Given the description of an element on the screen output the (x, y) to click on. 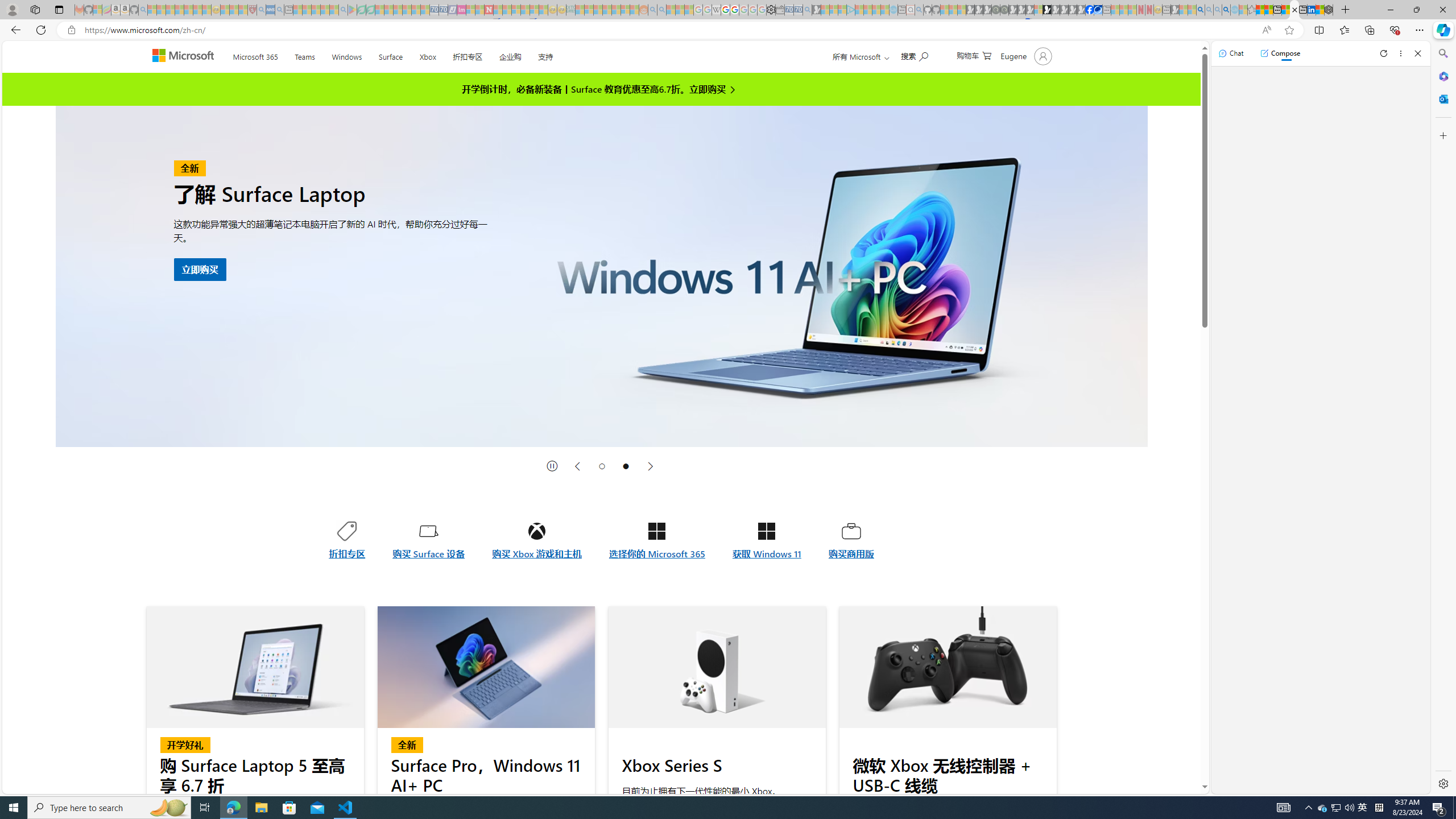
DITOGAMES AG Imprint - Sleeping (570, 9)
More options (1401, 53)
Nordace | Facebook (1089, 9)
